Given the description of an element on the screen output the (x, y) to click on. 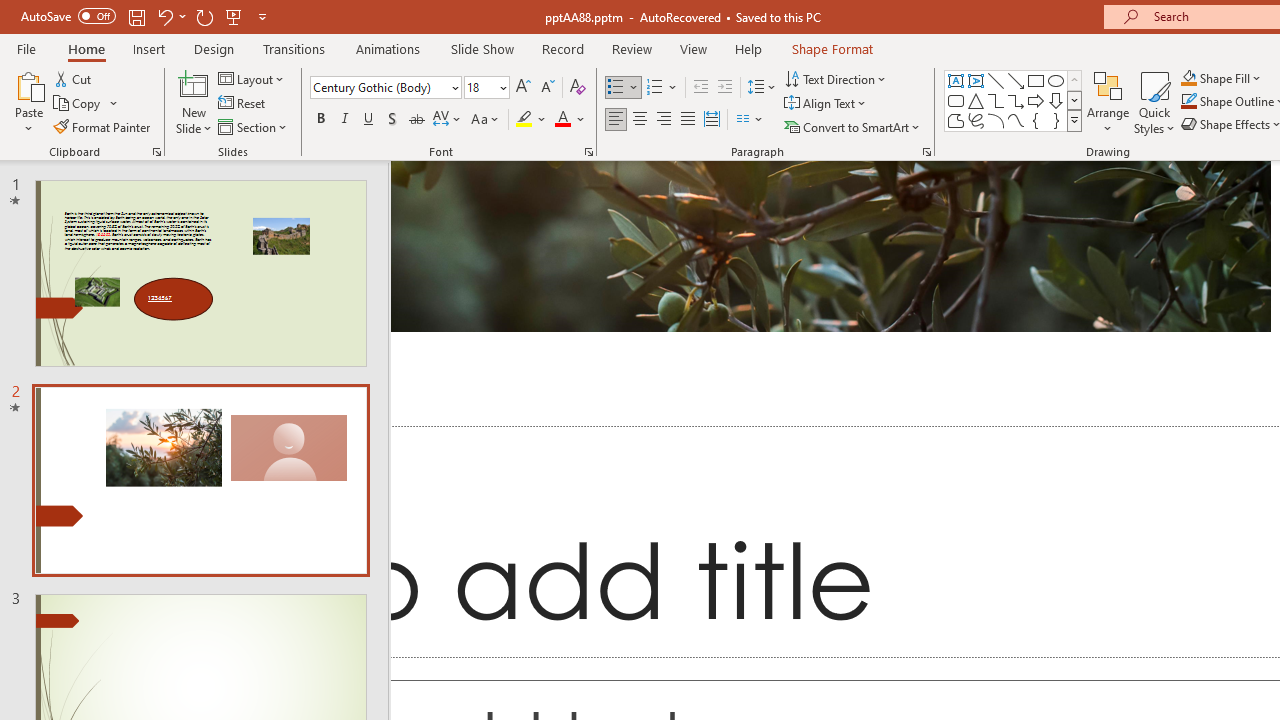
Format Painter (103, 126)
Line Arrow (1016, 80)
New Slide (193, 84)
Font Color (569, 119)
AutomationID: ShapesInsertGallery (1014, 100)
Strikethrough (416, 119)
Animations (388, 48)
Increase Indent (725, 87)
From Beginning (234, 15)
Cut (73, 78)
Font Size (480, 87)
Shapes (1074, 120)
Freeform: Shape (955, 120)
Save (136, 15)
Text Direction (836, 78)
